Given the description of an element on the screen output the (x, y) to click on. 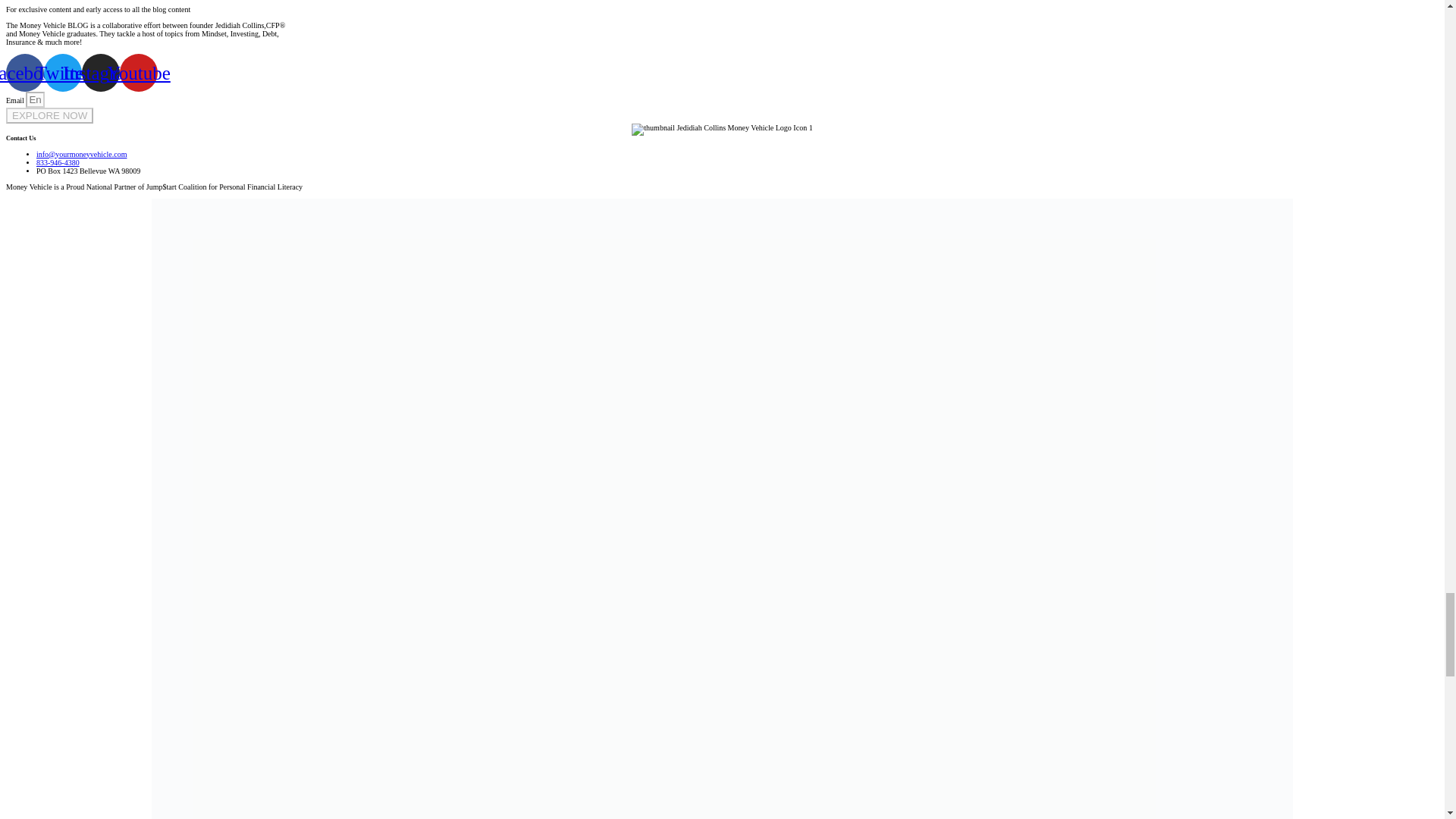
thumbnail Jedidiah Collins Money Vehicle Logo Icon 1 (721, 129)
